Given the description of an element on the screen output the (x, y) to click on. 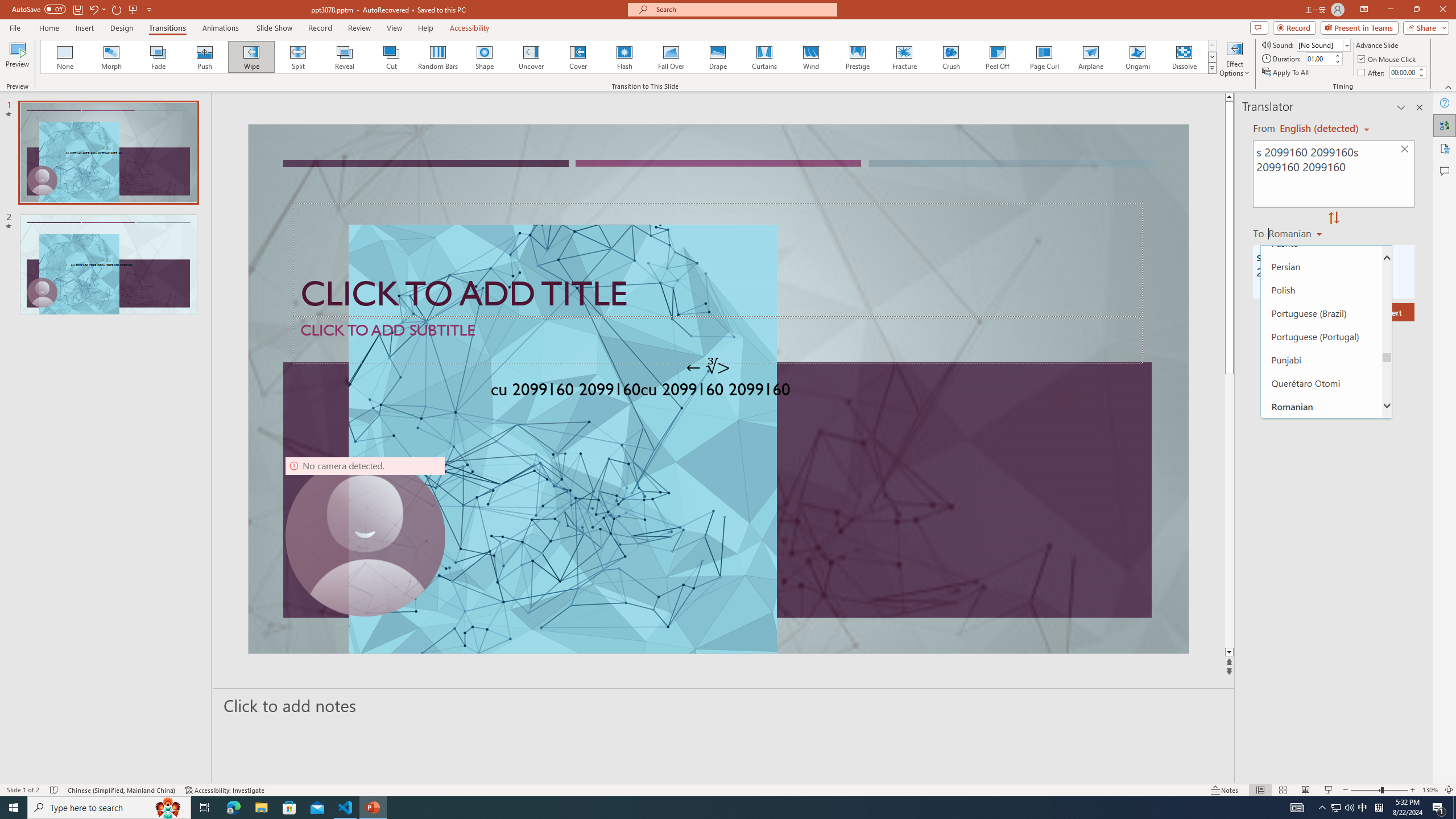
Debug Console (Ctrl+Shift+Y) (486, 533)
test.ipynb (491, 183)
No Problems (121, 766)
Class: actions-container (400, 387)
Terminal (Ctrl+`) (579, 533)
Edge (516, 46)
Output (Ctrl+Shift+U) (395, 533)
